Given the description of an element on the screen output the (x, y) to click on. 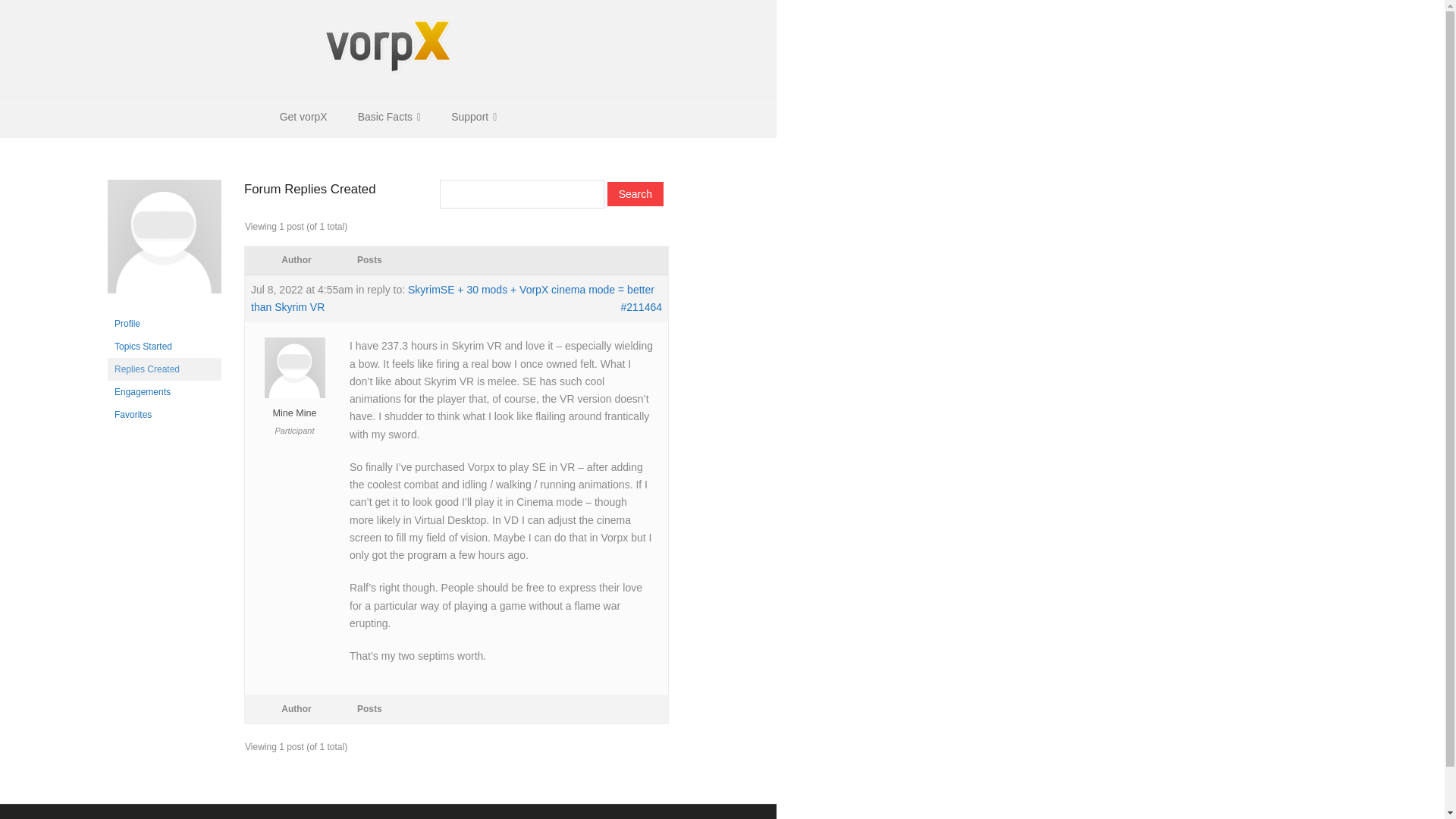
View Mine Mine's profile (293, 405)
Mine Mine's Replies Created (164, 368)
Replies Created (164, 368)
Search (635, 193)
Mine Mine's Topics Started (164, 345)
Support FAQ (384, 818)
Get vorpX (303, 116)
Mine Mine's Profile (164, 323)
Mine Mine (293, 405)
